Given the description of an element on the screen output the (x, y) to click on. 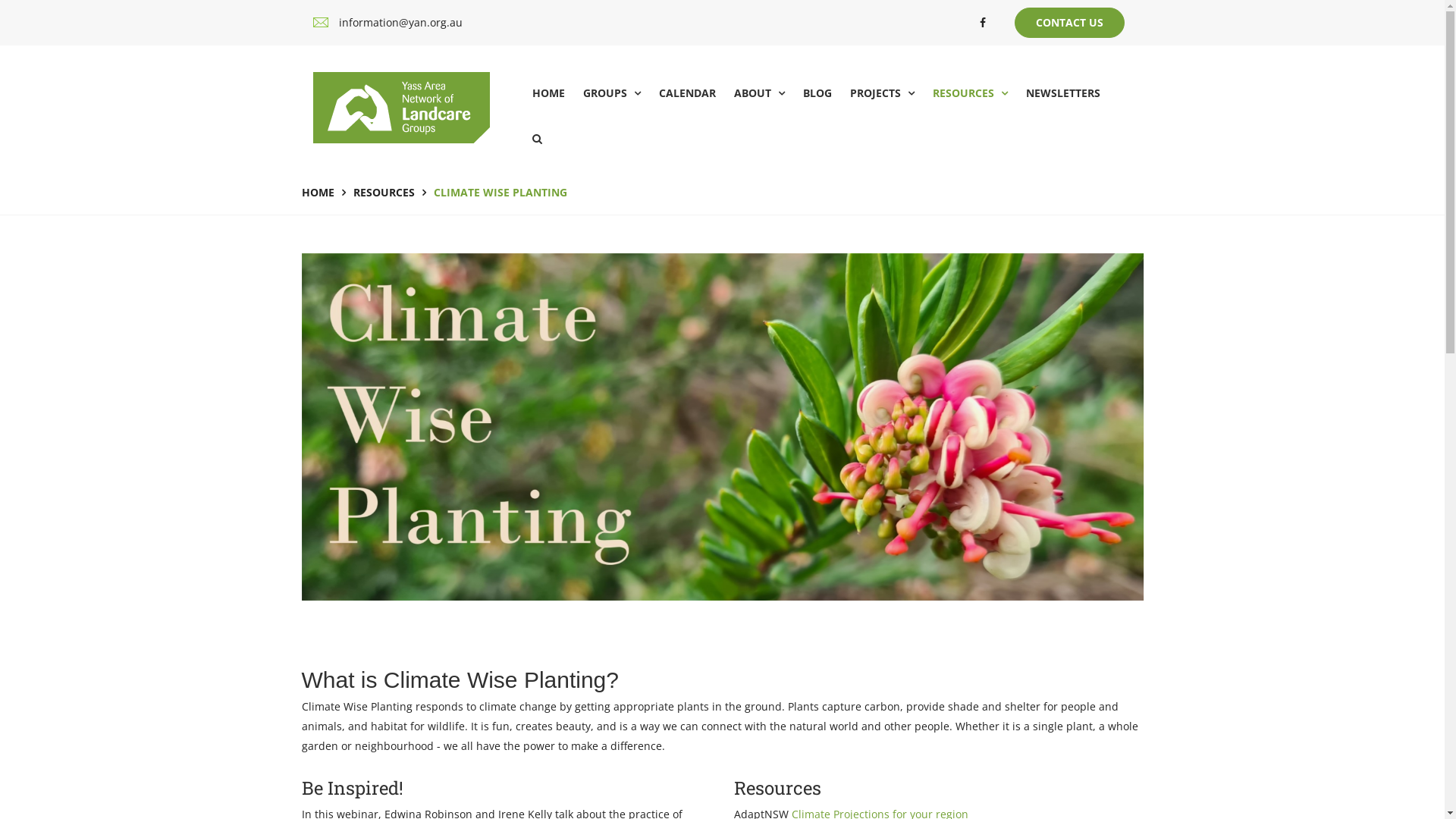
CONTACT US Element type: text (1069, 22)
BLOG Element type: text (816, 93)
RESOURCES Element type: text (969, 93)
RESOURCES Element type: text (383, 192)
information@yan.org.au Element type: text (399, 22)
CALENDAR Element type: text (686, 93)
NEWSLETTERS Element type: text (1062, 93)
HOME Element type: text (317, 192)
HOME Element type: text (548, 93)
PROJECTS Element type: text (881, 93)
